Given the description of an element on the screen output the (x, y) to click on. 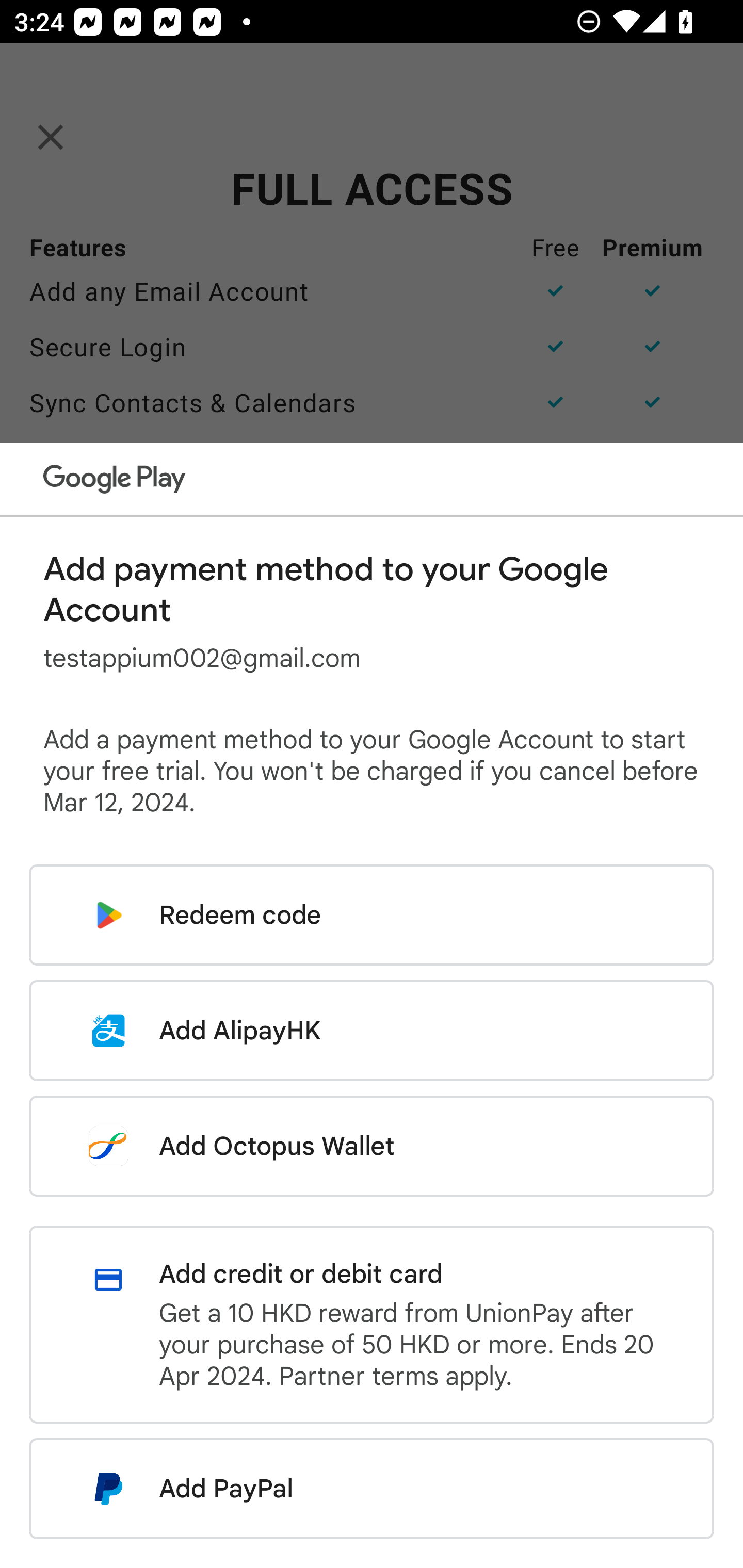
Redeem code (371, 914)
Add AlipayHK (371, 1030)
Add Octopus Wallet (371, 1146)
Add PayPal (371, 1488)
